Given the description of an element on the screen output the (x, y) to click on. 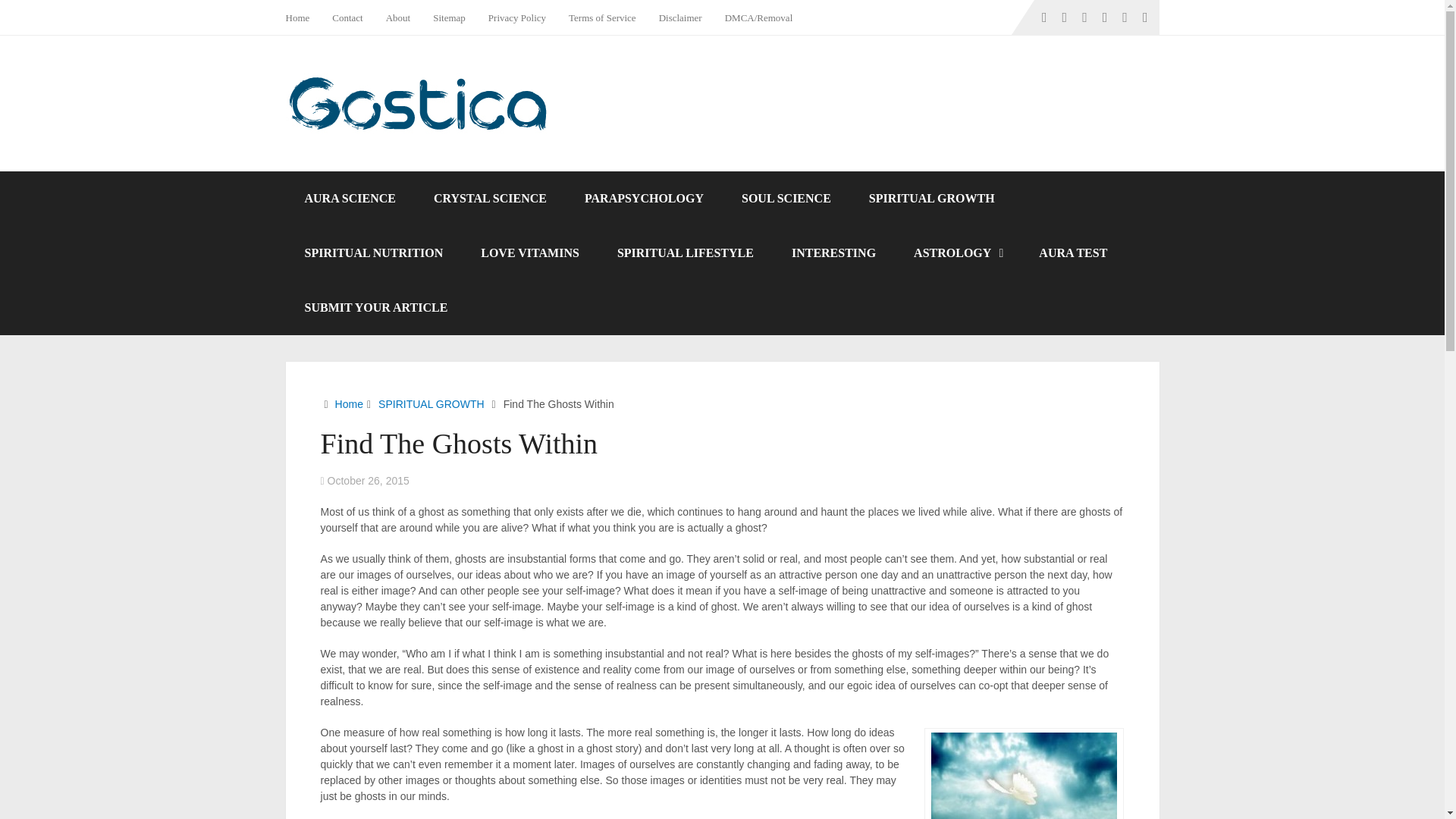
SPIRITUAL GROWTH (931, 198)
SUBMIT YOUR ARTICLE (375, 307)
Terms of Service (602, 17)
LOVE VITAMINS (529, 253)
SPIRITUAL LIFESTYLE (685, 253)
Sitemap (449, 17)
AURA SCIENCE (349, 198)
Privacy Policy (517, 17)
AURA TEST (1072, 253)
ASTROLOGY (957, 253)
About (398, 17)
SPIRITUAL NUTRITION (373, 253)
Home (302, 17)
PARAPSYCHOLOGY (644, 198)
Disclaimer (680, 17)
